Given the description of an element on the screen output the (x, y) to click on. 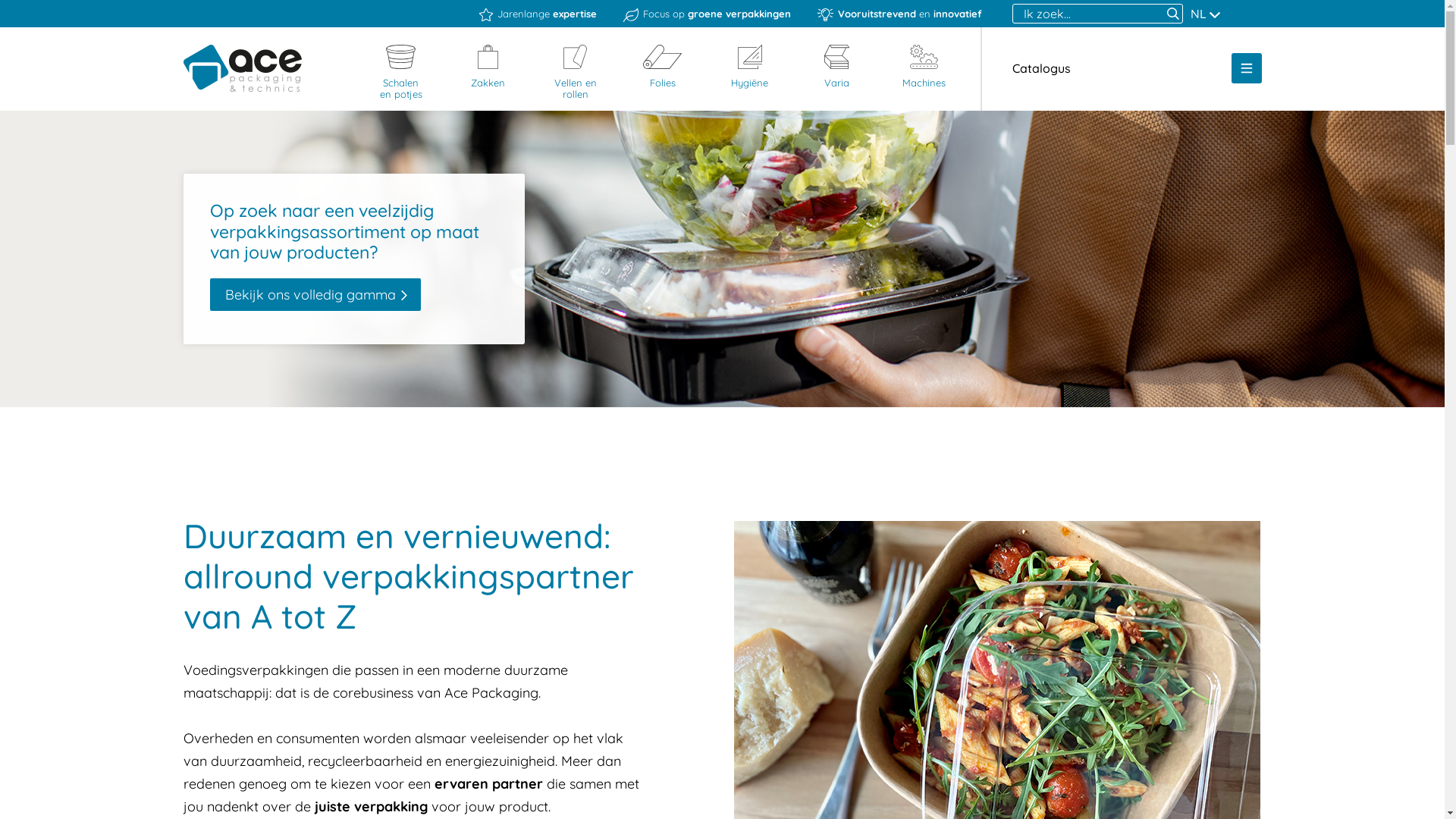
NL Element type: text (1205, 13)
Bekijk ons volledig gamma Element type: text (314, 294)
Zakken Element type: text (487, 66)
Folies Element type: text (661, 66)
Vellen en
rollen Element type: text (575, 72)
Catalogus Element type: text (1040, 68)
Schalen
en potjes Element type: text (401, 72)
Varia Element type: text (836, 66)
Machines Element type: text (924, 66)
